Given the description of an element on the screen output the (x, y) to click on. 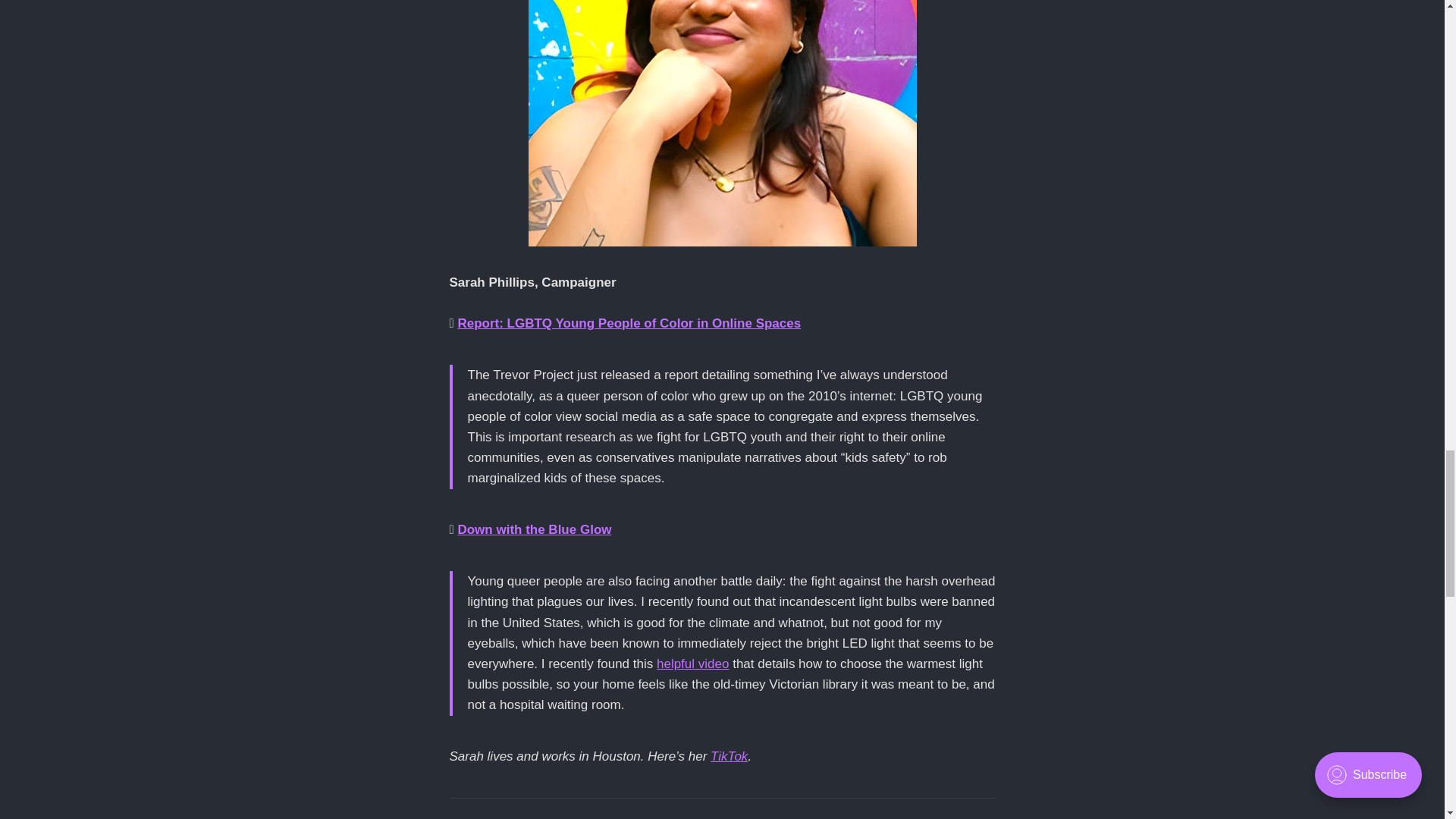
Down with the Blue Glow (534, 529)
TikTok (729, 756)
helpful video (692, 663)
Report: LGBTQ Young People of Color in Online Spaces (628, 323)
